Given the description of an element on the screen output the (x, y) to click on. 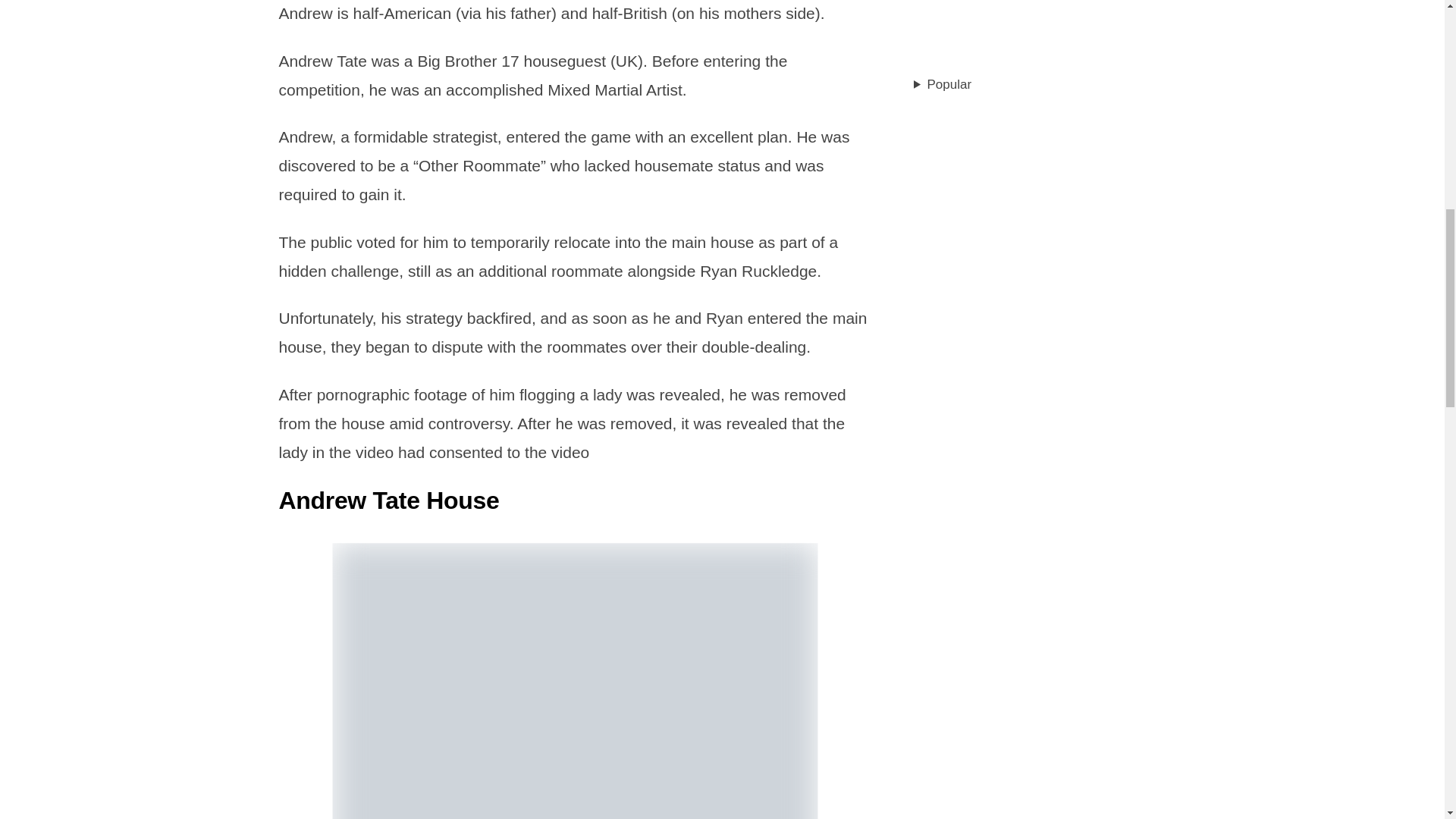
Andrew Tate House 2 (573, 680)
